Given the description of an element on the screen output the (x, y) to click on. 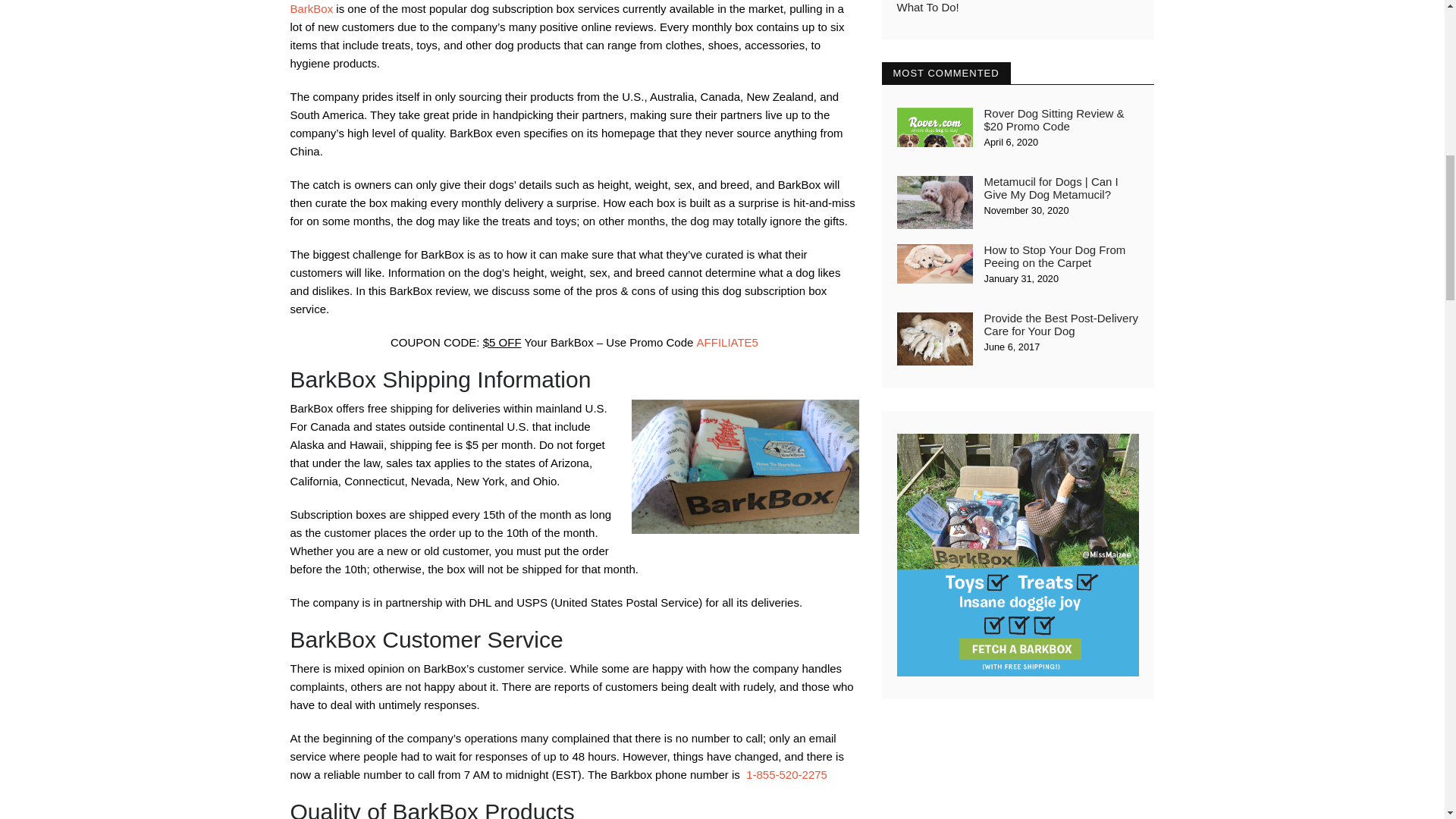
BarkBox (311, 8)
AFFILIATE5 (727, 341)
1-855-520-2275 (786, 774)
